Given the description of an element on the screen output the (x, y) to click on. 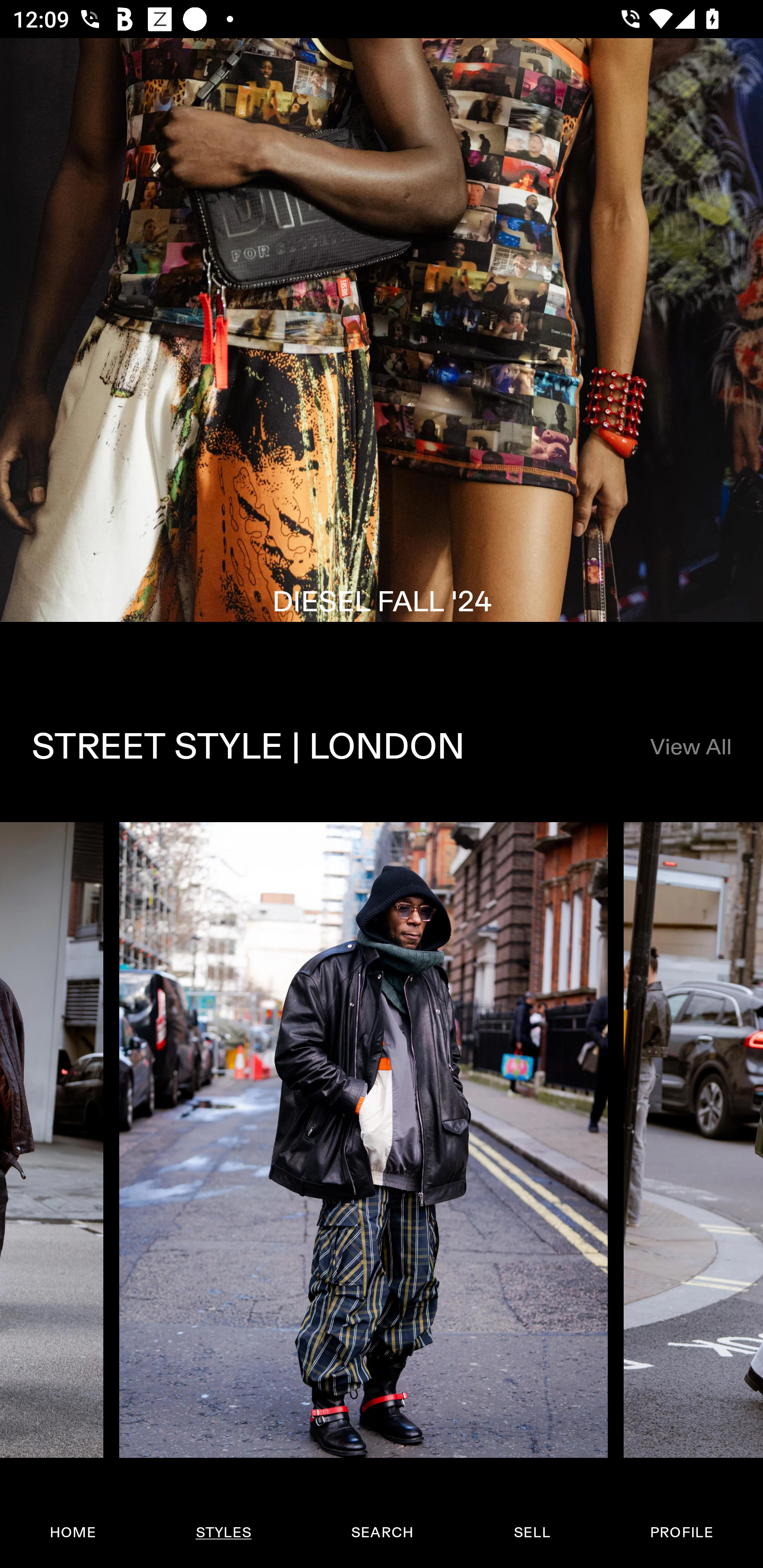
FIRST LOOKS DIESEL FALL '24 (381, 354)
View All (690, 747)
HOME (72, 1532)
STYLES (222, 1532)
SEARCH (381, 1532)
SELL (531, 1532)
PROFILE (681, 1532)
